Given the description of an element on the screen output the (x, y) to click on. 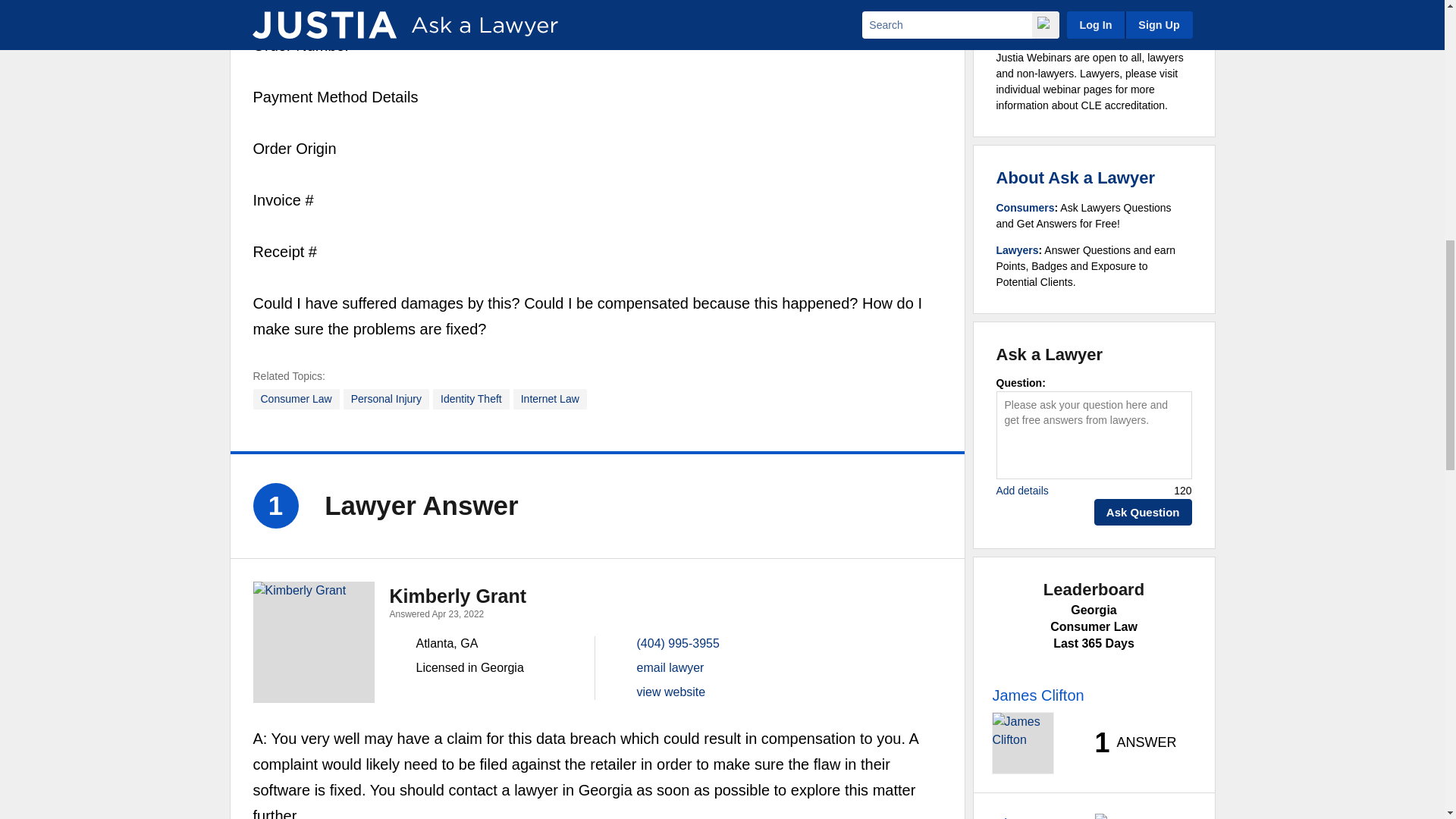
Kimberly Grant (313, 641)
Ask a Lawyer - Leaderboard - Lawyer Stats (1127, 742)
Ask a Lawyer - FAQs - Lawyers (1017, 250)
Internet Law (549, 399)
Ask a Lawyer - Leaderboard - Lawyer Name (1037, 694)
Identity Theft (470, 399)
Consumer Law (296, 399)
Ask a Lawyer - Leaderboard - Lawyer Photo (1021, 742)
Ask a Lawyer - FAQs - Consumers (1024, 207)
